Given the description of an element on the screen output the (x, y) to click on. 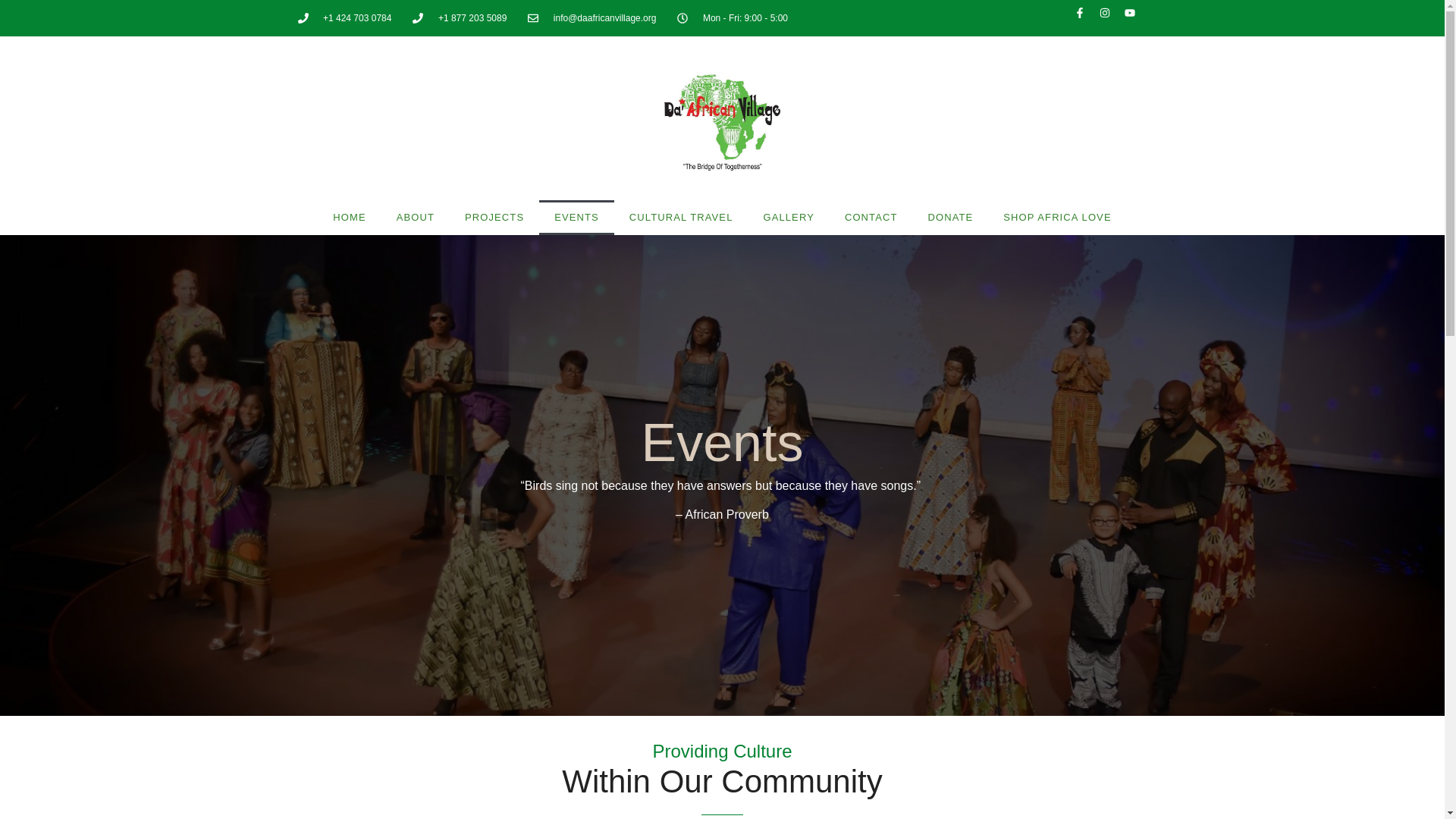
CONTACT (870, 217)
DONATE (950, 217)
About (415, 217)
SHOP AFRICA LOVE (1056, 217)
Cultural Travel (681, 217)
Donate (950, 217)
GALLERY (788, 217)
Projects (493, 217)
Home (348, 217)
CULTURAL TRAVEL (681, 217)
PROJECTS (493, 217)
EVENTS (576, 217)
HOME (348, 217)
Events (576, 217)
ABOUT (415, 217)
